Given the description of an element on the screen output the (x, y) to click on. 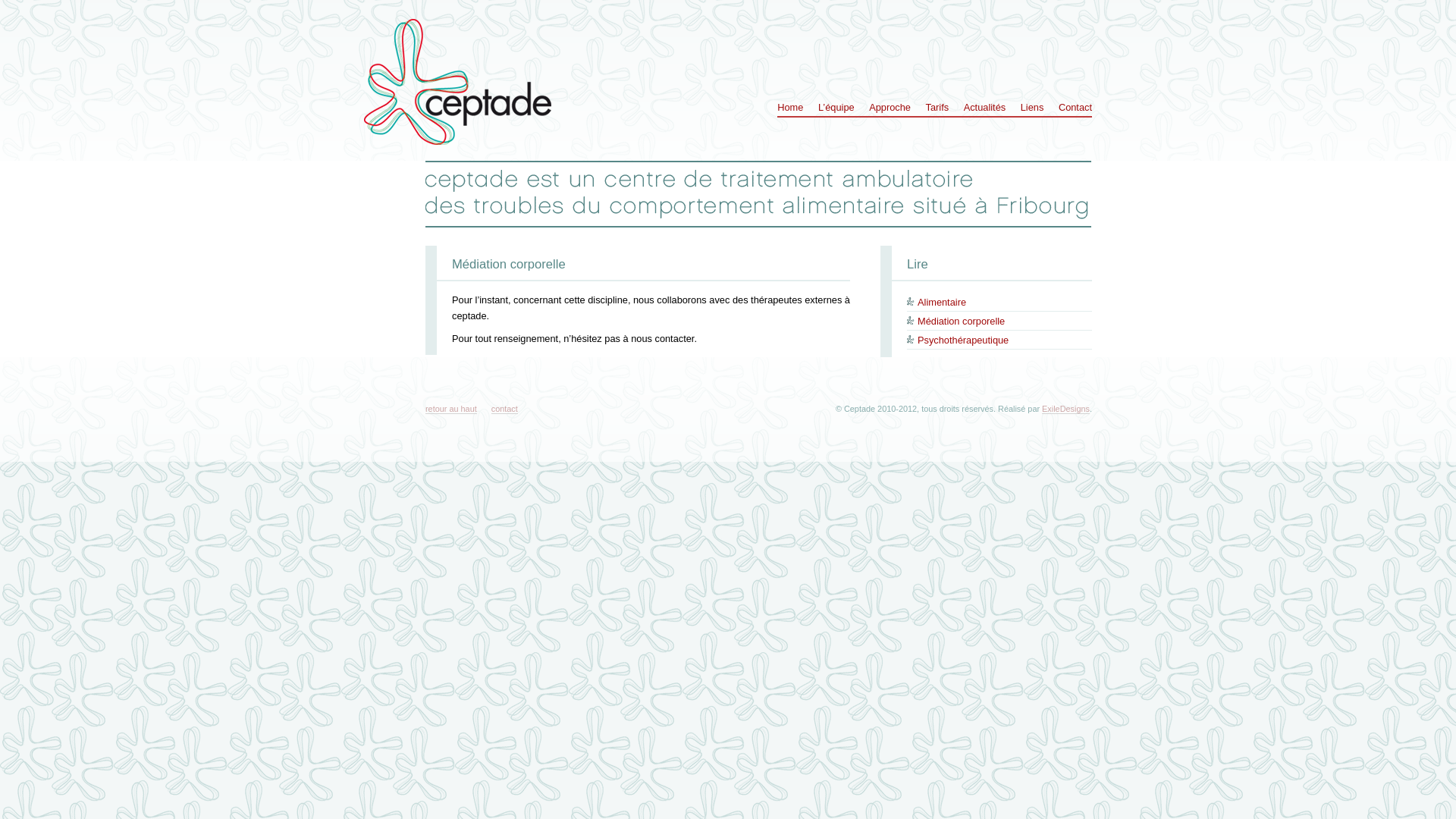
Liens Element type: text (1032, 106)
Alimentaire Element type: text (941, 301)
Home Element type: text (790, 106)
contact Element type: text (504, 409)
retour au haut Element type: text (450, 409)
Tarifs Element type: text (937, 106)
Contact Element type: text (1075, 106)
ExileDesigns Element type: text (1065, 409)
Approche Element type: text (889, 106)
